Given the description of an element on the screen output the (x, y) to click on. 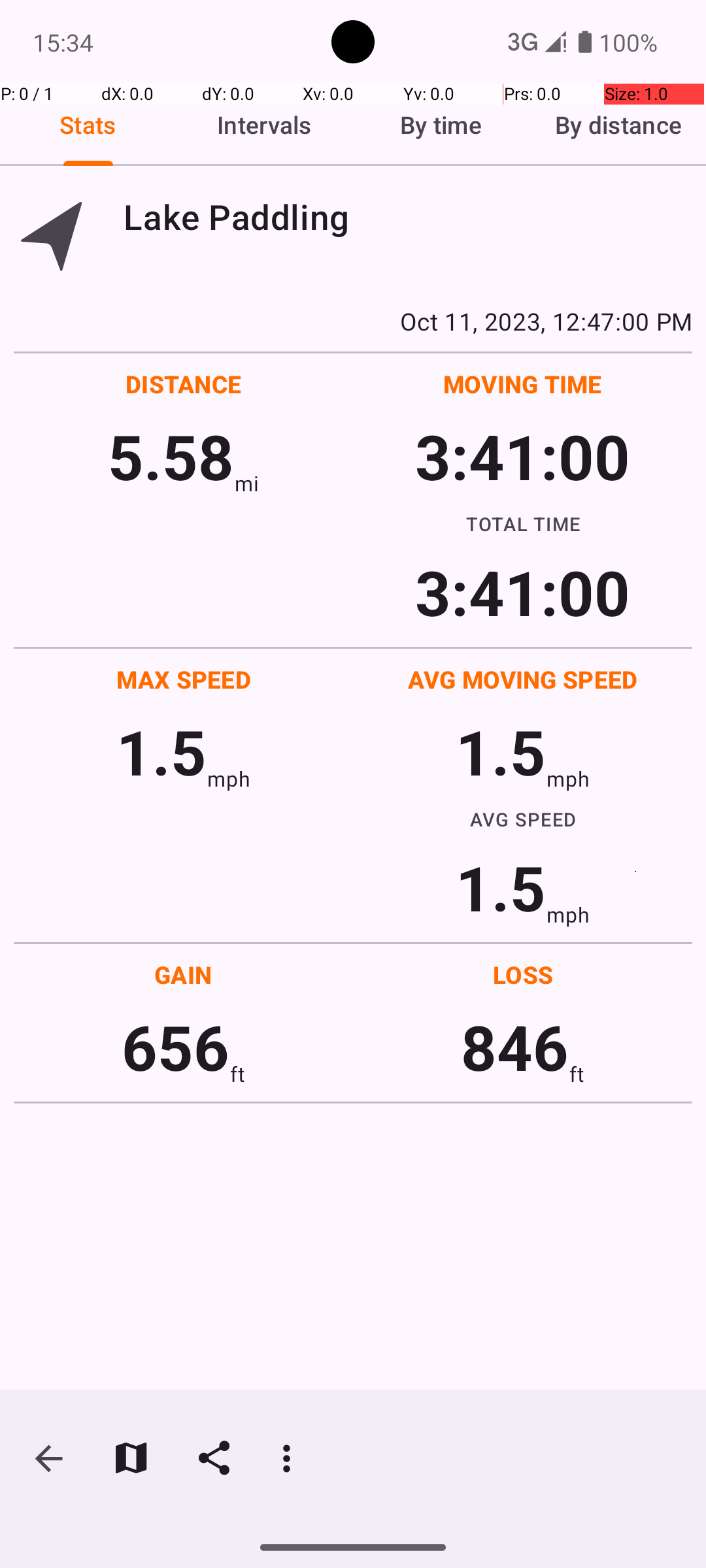
Lake Paddling Element type: android.widget.TextView (407, 216)
Oct 11, 2023, 12:47:00 PM Element type: android.widget.TextView (352, 320)
MOVING TIME Element type: android.widget.TextView (522, 383)
5.58 Element type: android.widget.TextView (170, 455)
mi Element type: android.widget.TextView (246, 483)
3:41:00 Element type: android.widget.TextView (522, 455)
TOTAL TIME Element type: android.widget.TextView (522, 523)
MAX SPEED Element type: android.widget.TextView (183, 678)
AVG MOVING SPEED Element type: android.widget.TextView (522, 678)
1.5 Element type: android.widget.TextView (161, 750)
mph Element type: android.widget.TextView (228, 778)
AVG SPEED Element type: android.widget.TextView (522, 818)
GAIN Element type: android.widget.TextView (183, 974)
LOSS Element type: android.widget.TextView (522, 974)
656 Element type: android.widget.TextView (175, 1045)
ft Element type: android.widget.TextView (237, 1073)
846 Element type: android.widget.TextView (514, 1045)
